Given the description of an element on the screen output the (x, y) to click on. 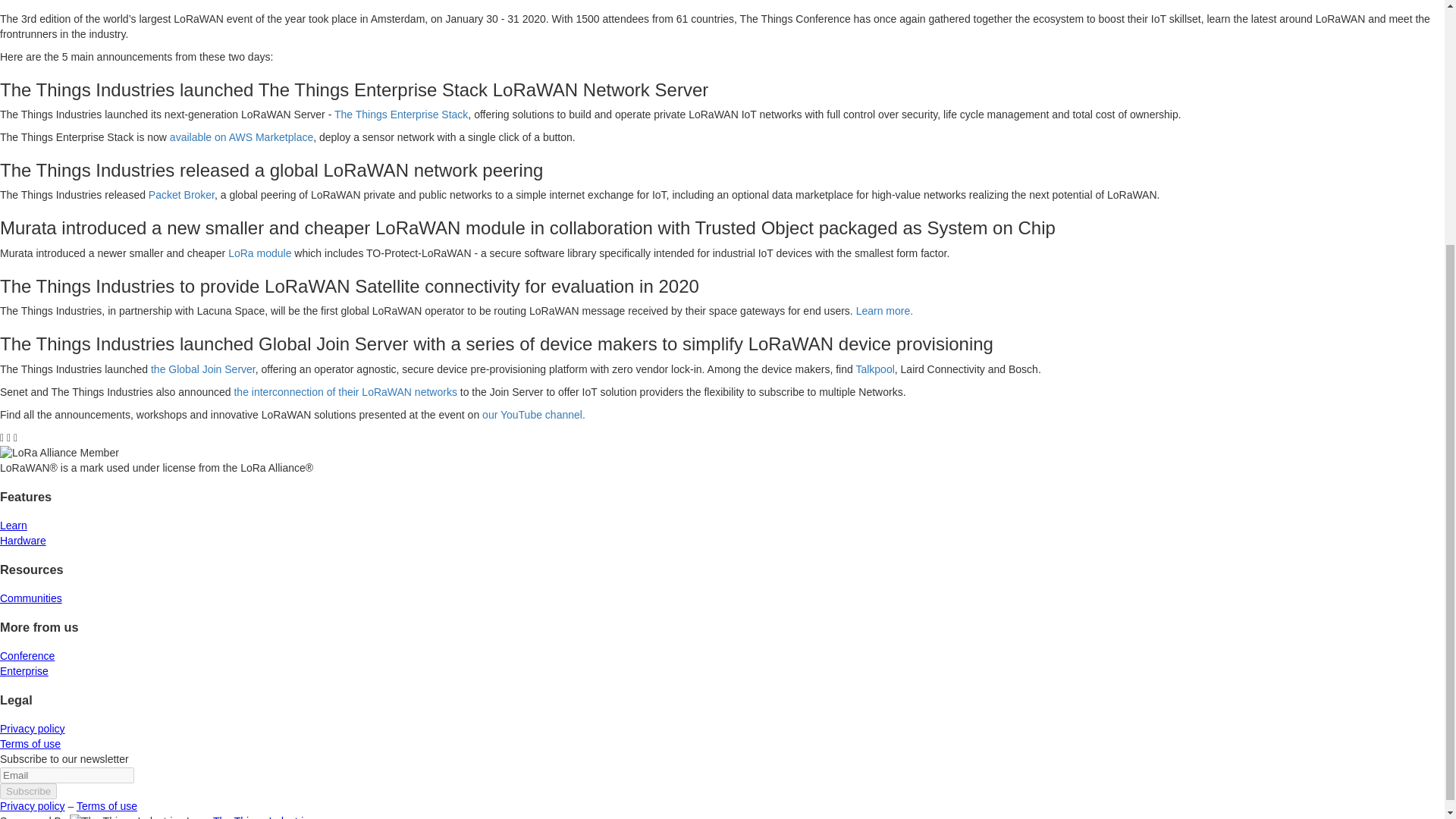
our YouTube channel. (533, 414)
the Global Join Server (203, 369)
Learn more. (884, 310)
the interconnection of their LoRaWAN networks (344, 391)
The Things Enterprise Stack (400, 114)
Packet Broker (181, 194)
available on AWS Marketplace (241, 137)
LoRa module (259, 253)
Talkpool (874, 369)
